Given the description of an element on the screen output the (x, y) to click on. 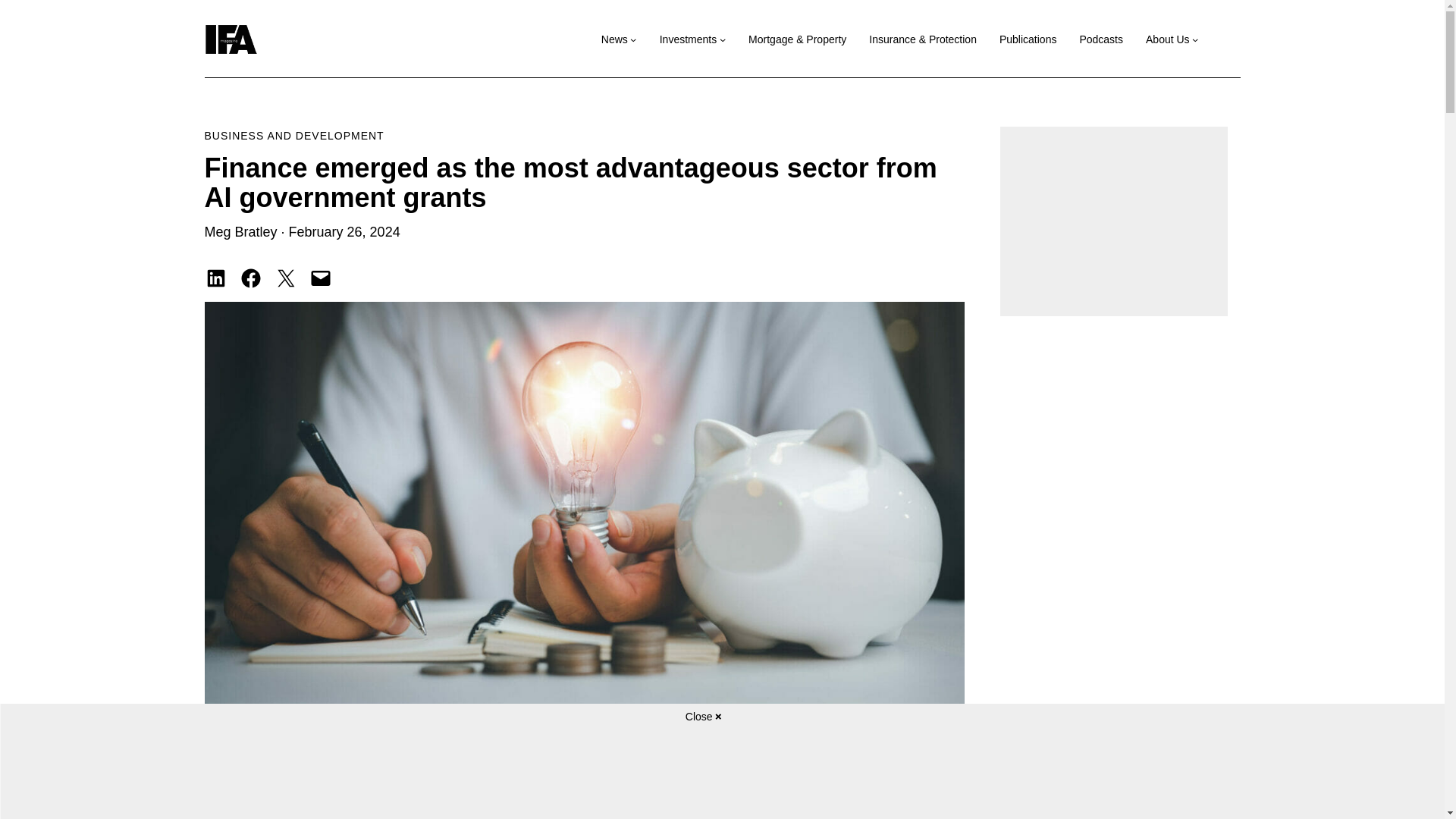
Meg Bratley (241, 231)
Email this Page (319, 277)
Podcasts (1100, 39)
Share on X (286, 277)
About Us (1167, 39)
BUSINESS AND DEVELOPMENT (294, 135)
Publications (1027, 39)
Investments (687, 39)
Share on LinkedIn (216, 277)
News (614, 39)
